Given the description of an element on the screen output the (x, y) to click on. 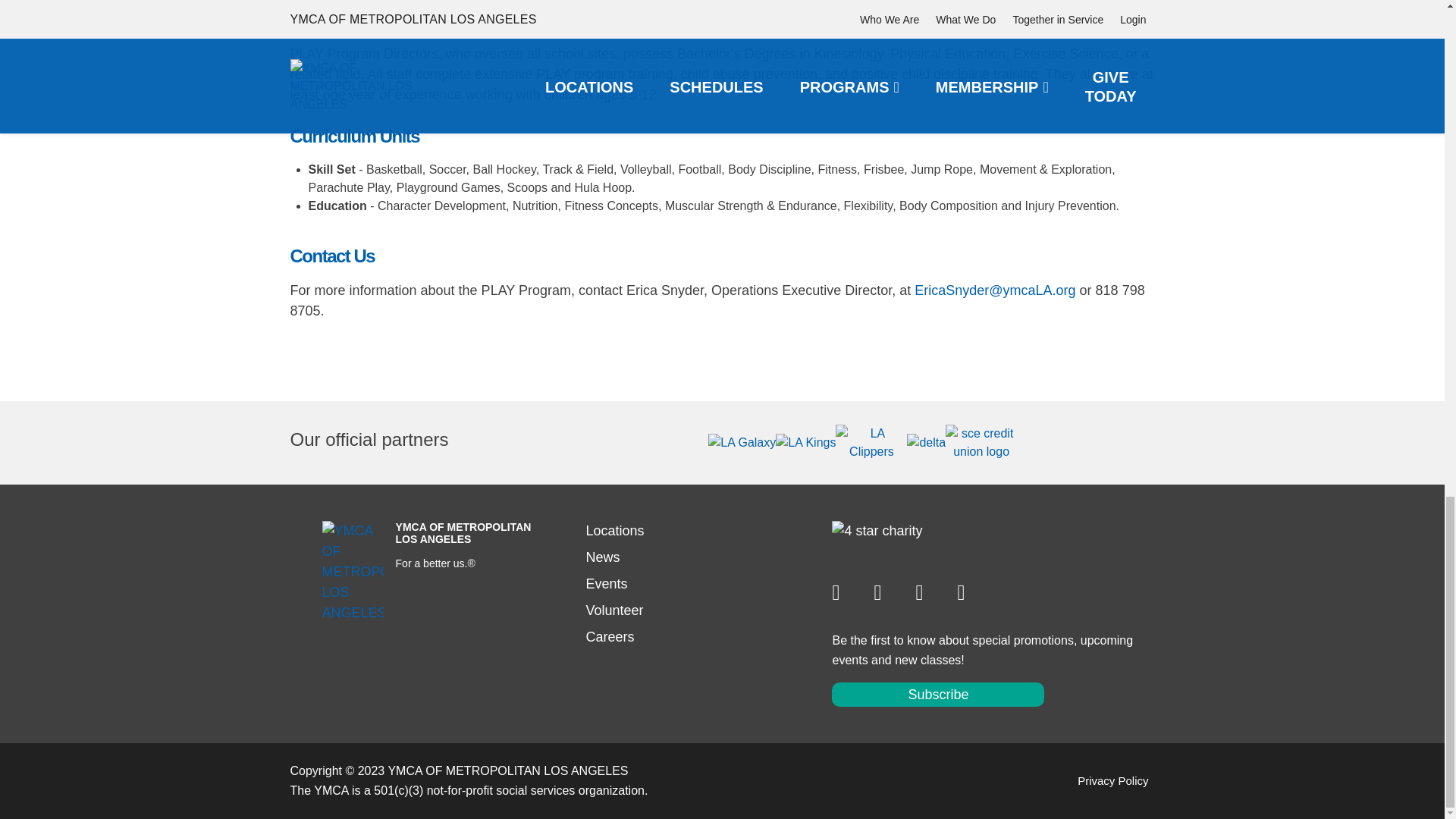
Go to YMCA Metro LA's Facebook page (884, 592)
Go to YMCA Metro LA's Youtube feed (967, 592)
Go to YMCA Metro LA's Twitter feed (925, 592)
Go to YMCA Metro LA's Instagram page (842, 592)
YMCA OF METROPOLITAN LOS ANGELES (352, 571)
Contact (614, 530)
Events (606, 583)
